Given the description of an element on the screen output the (x, y) to click on. 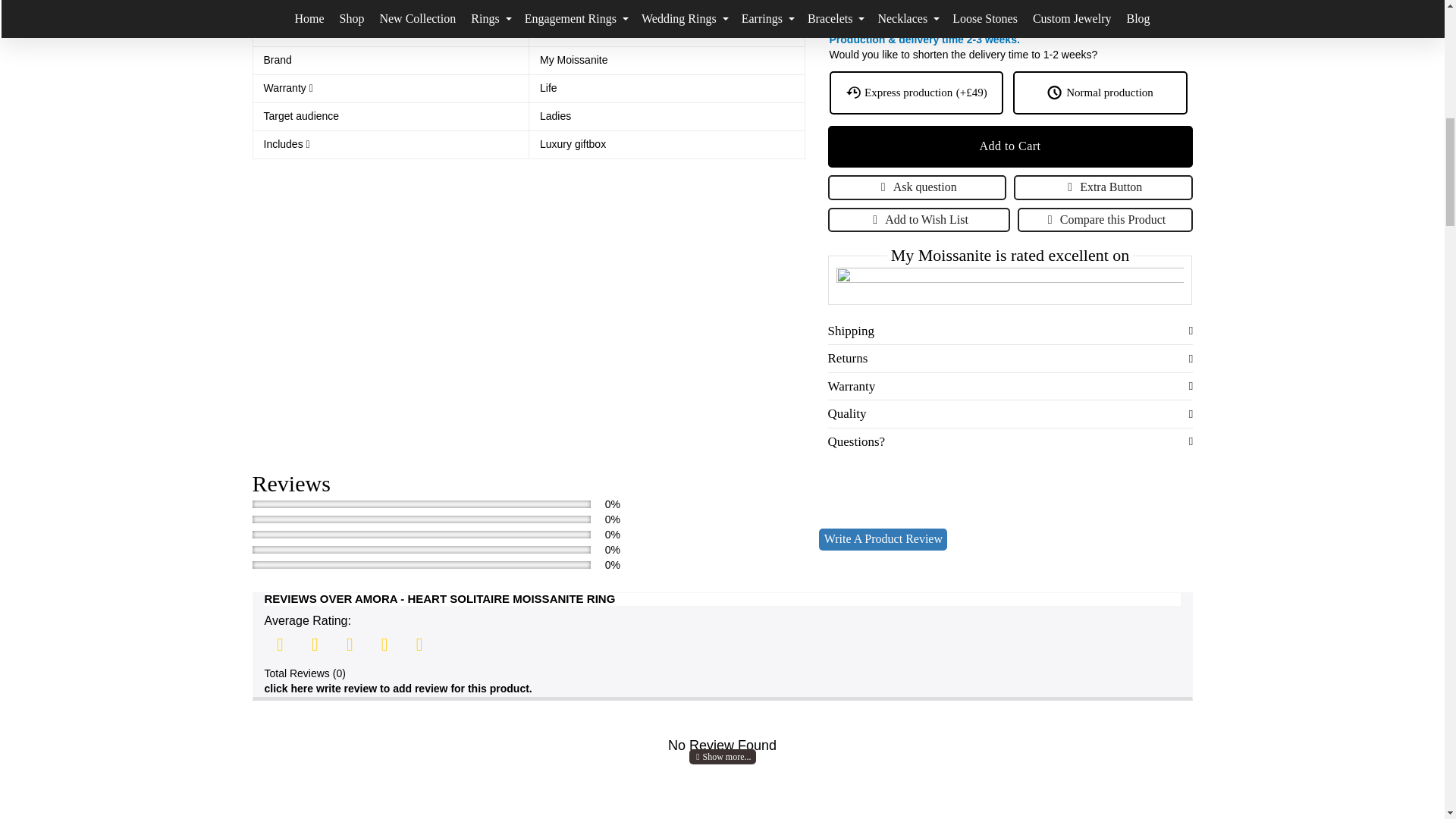
My Moissanite is rated excellent on (1010, 280)
